Given the description of an element on the screen output the (x, y) to click on. 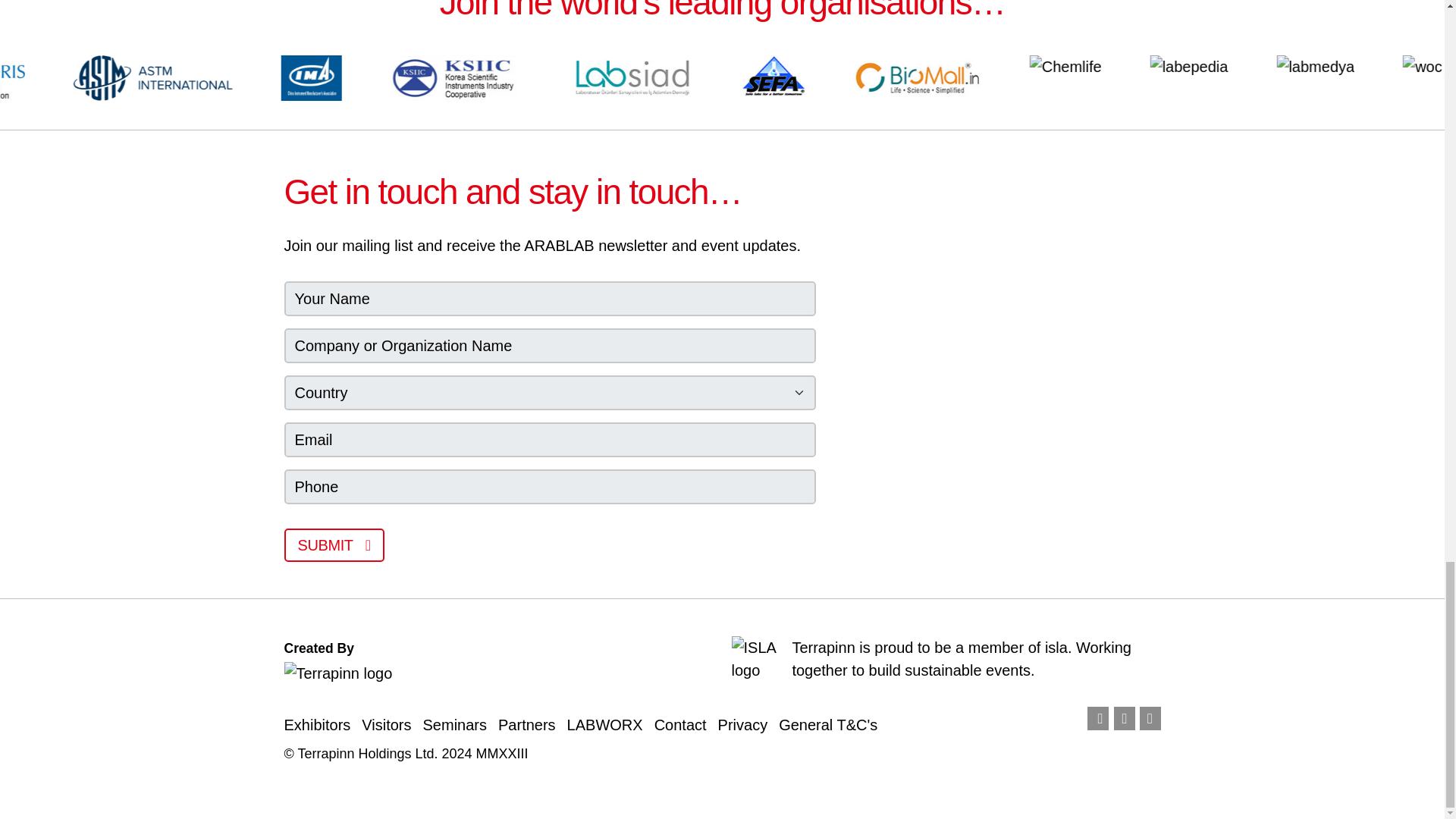
facebook (1097, 718)
linkedin (1124, 718)
x (1149, 718)
